Given the description of an element on the screen output the (x, y) to click on. 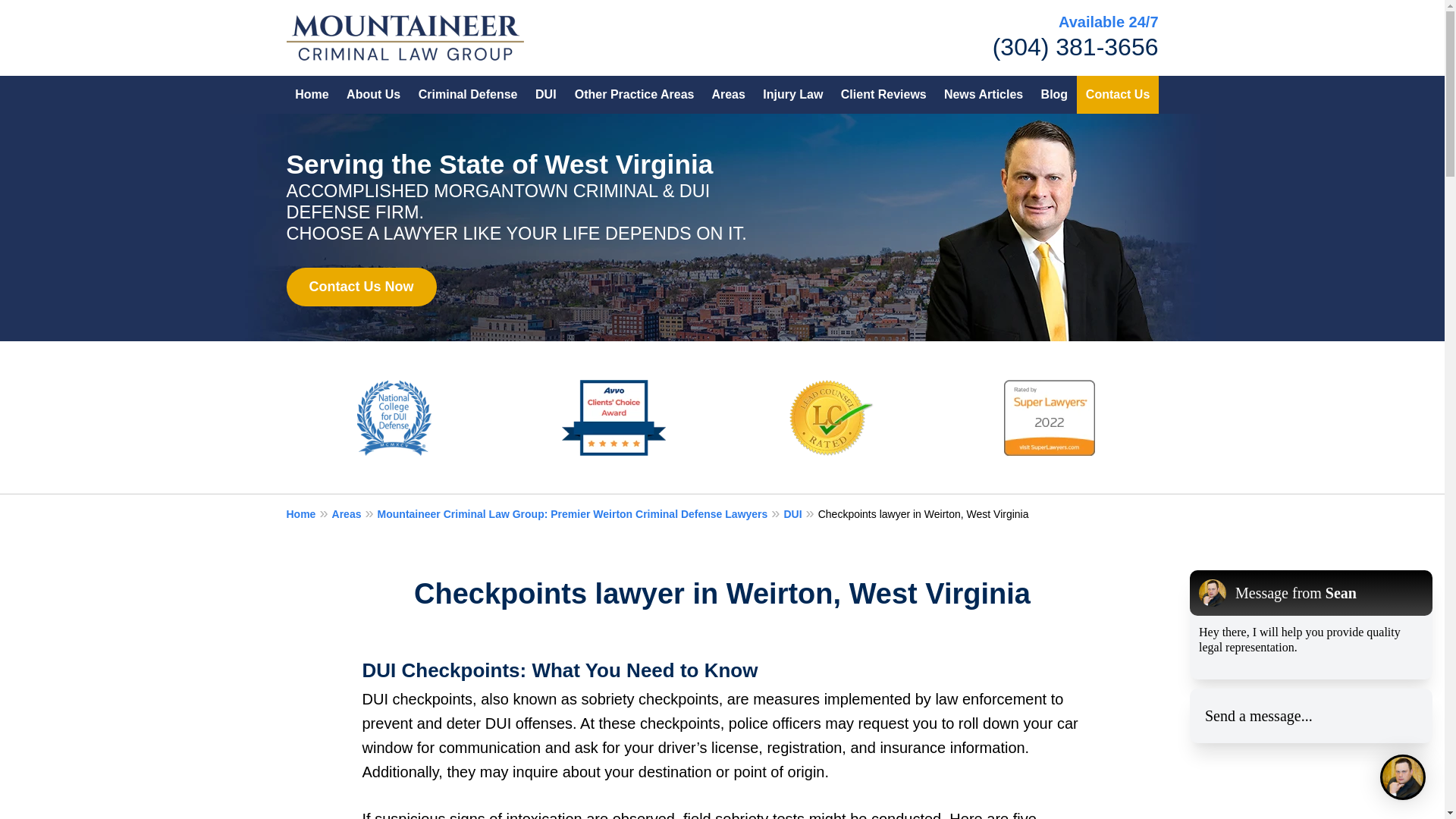
DUI (545, 94)
Areas (728, 94)
Home (311, 94)
Contact Us (1117, 94)
Client Reviews (883, 94)
Injury Law (792, 94)
DUI (799, 513)
Home (308, 513)
Blog (1053, 94)
News Articles (983, 94)
Other Practice Areas (634, 94)
Criminal Defense (468, 94)
Contact Us Now (361, 287)
About Us (373, 94)
